Given the description of an element on the screen output the (x, y) to click on. 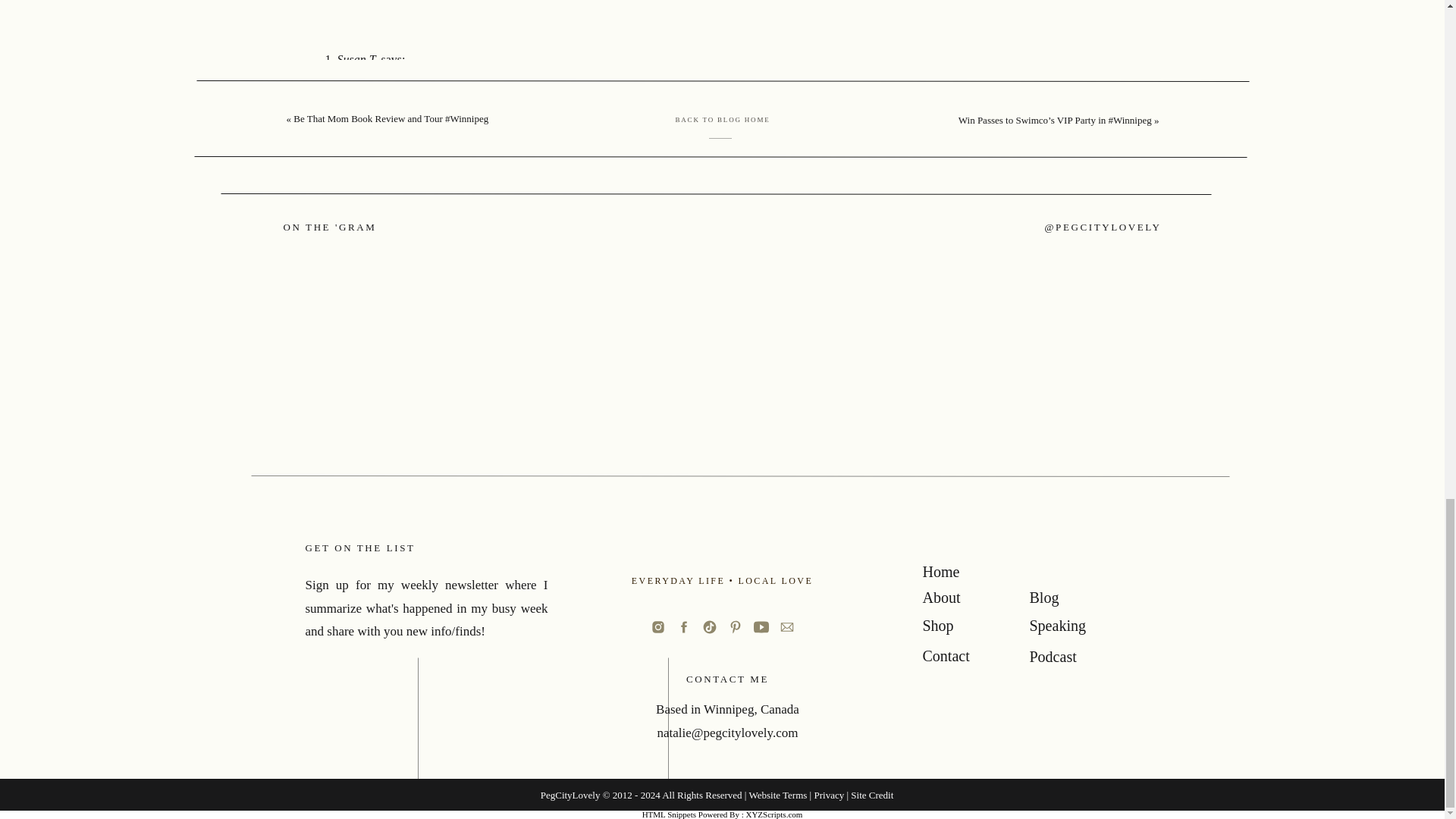
Click to email a link to a friend (450, 670)
Click to share on Facebook (438, 643)
Click to share on Pinterest (436, 698)
